Given the description of an element on the screen output the (x, y) to click on. 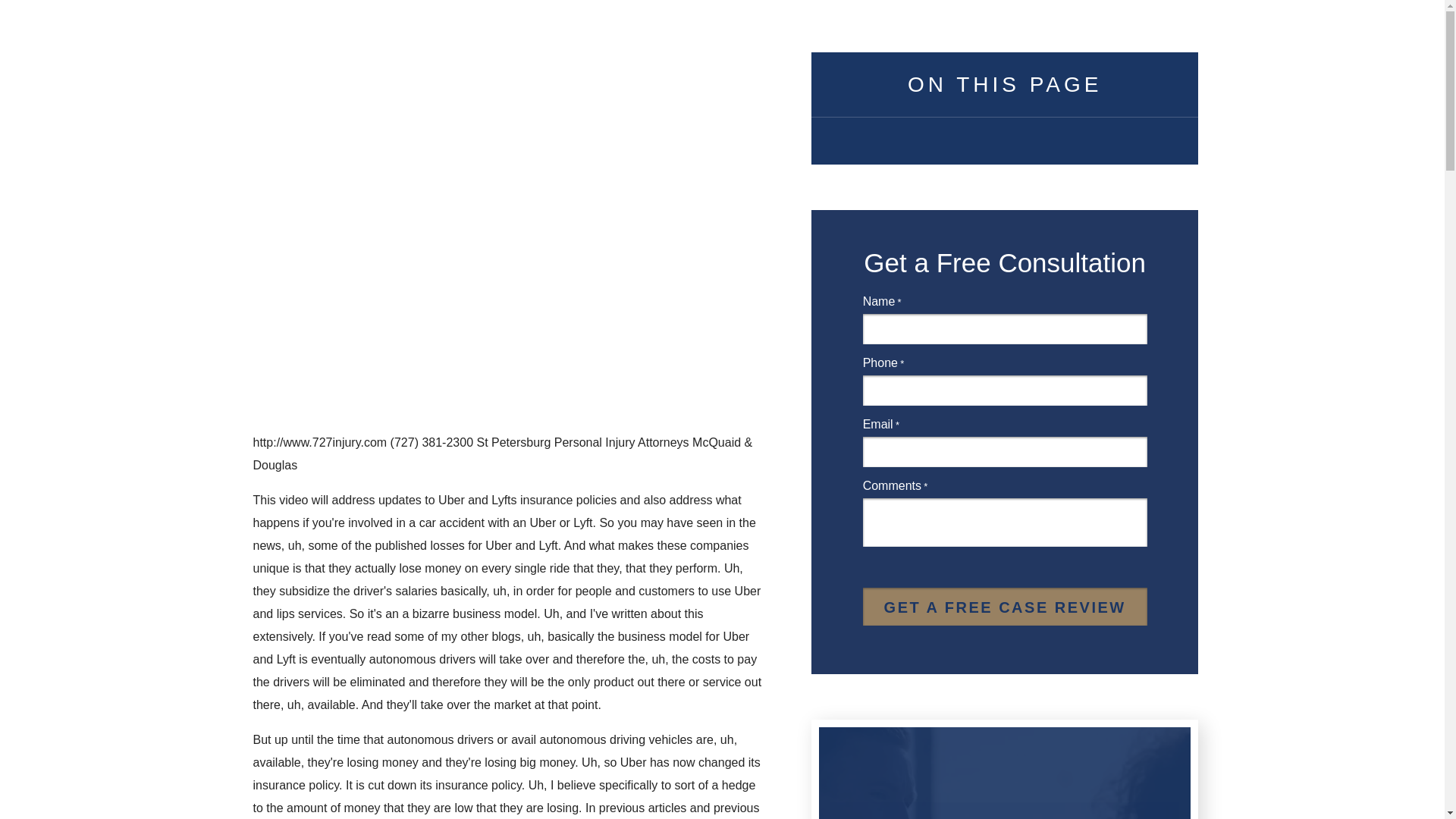
Get a free case review (1005, 606)
Get a free case review (1005, 606)
